Given the description of an element on the screen output the (x, y) to click on. 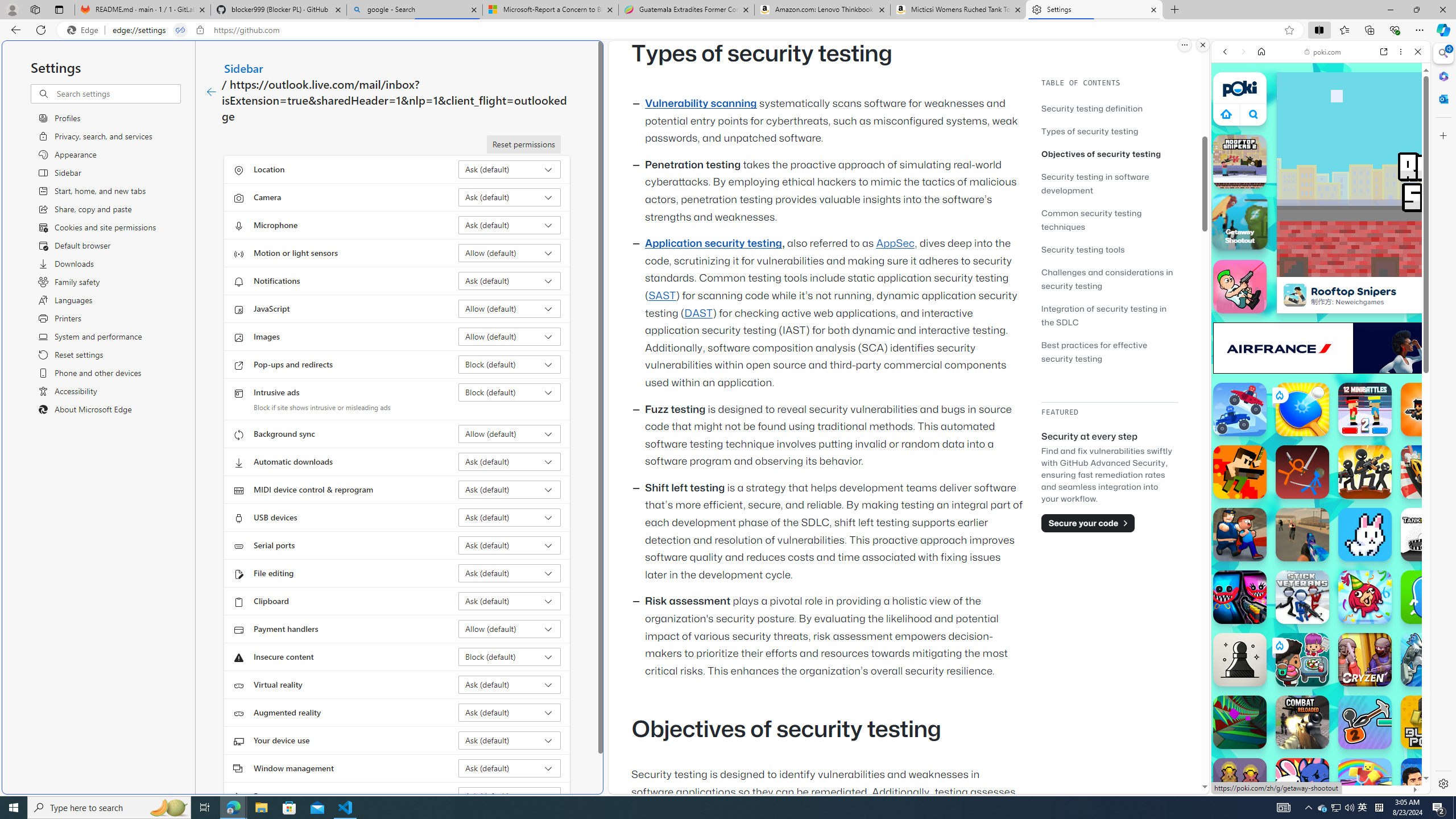
Stickman Fight: Ragdoll (1302, 471)
Cave Chaos Cave Chaos (1239, 784)
Click to scroll right (1407, 549)
AppSec (895, 243)
Objectives of security testing (1101, 153)
Automatic downloads Ask (default) (509, 461)
Close split screen. (1202, 45)
Bullet Bros (1239, 286)
Cryzen.io (1364, 659)
Earth's Greatest Defender Earth's Greatest Defender (1239, 471)
